Given the description of an element on the screen output the (x, y) to click on. 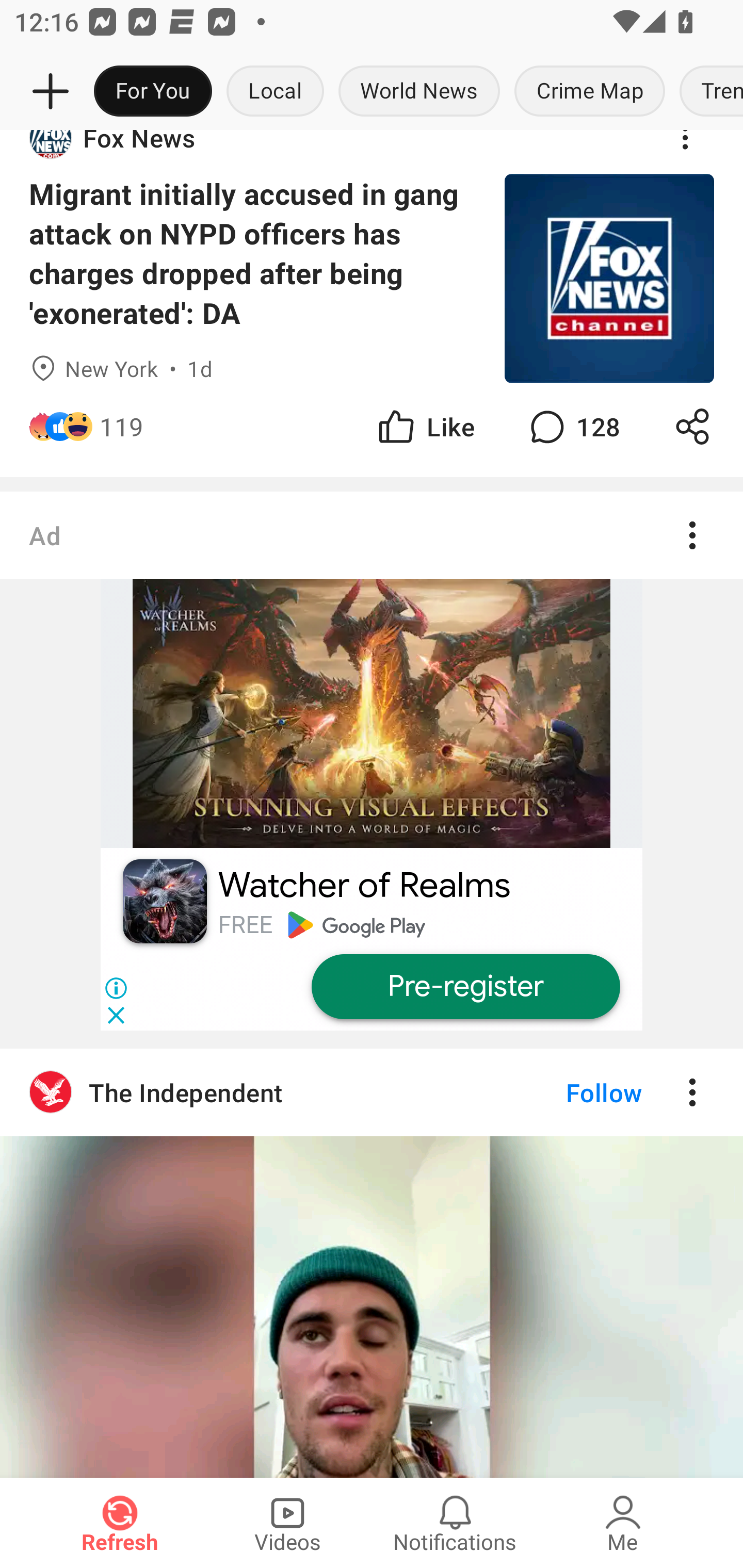
For You (152, 91)
Local (275, 91)
World News (419, 91)
Crime Map (589, 91)
119 (121, 426)
Like (425, 426)
128 (572, 426)
Watcher of Realms (364, 885)
FREE (245, 924)
Pre-register (464, 986)
The Independent Follow (371, 1262)
The Independent Follow (371, 1092)
Follow (569, 1092)
Videos (287, 1522)
Notifications (455, 1522)
Me (622, 1522)
